Given the description of an element on the screen output the (x, y) to click on. 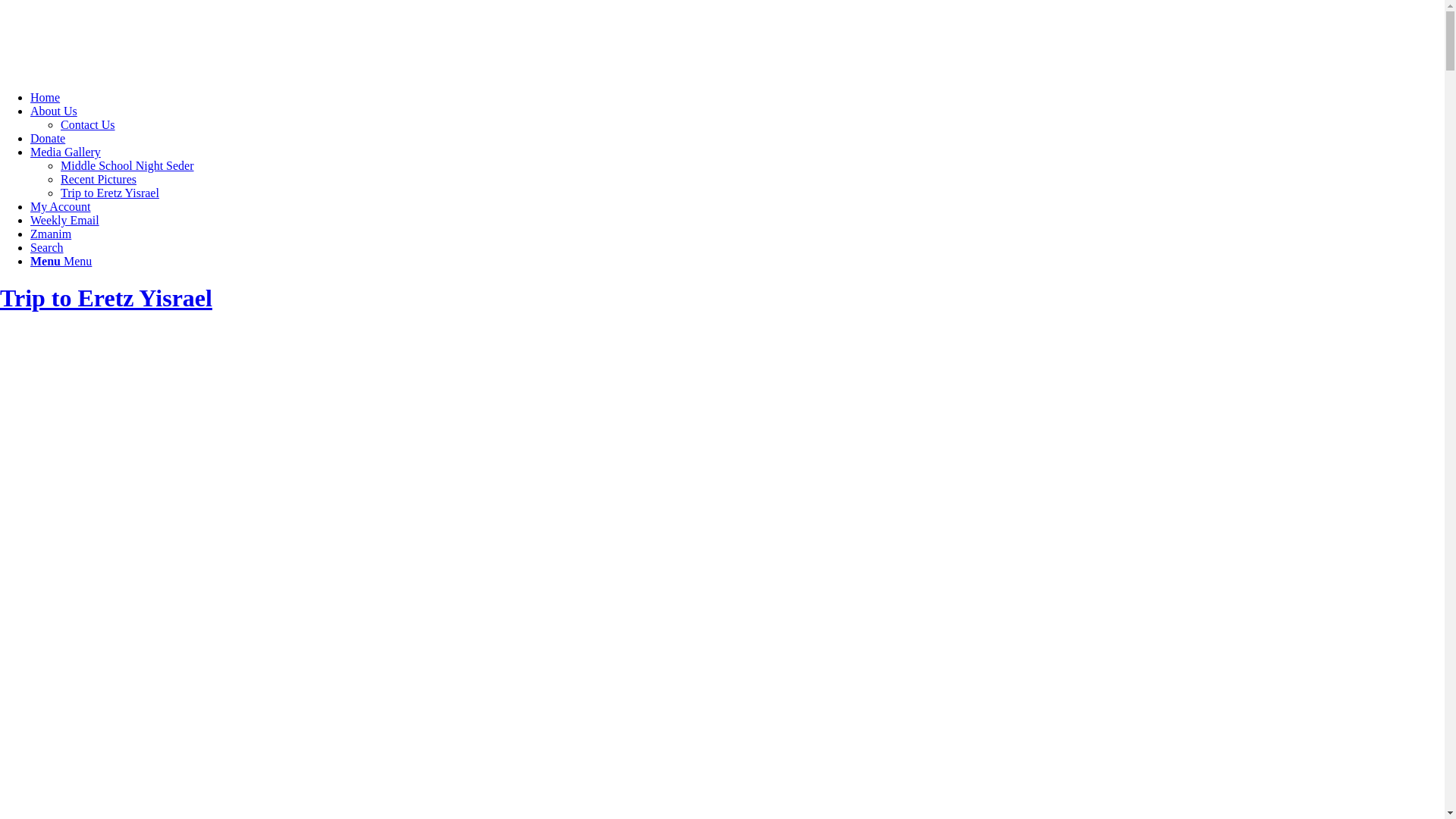
Search Element type: text (46, 247)
Weekly Email Element type: text (64, 219)
Recent Pictures Element type: text (98, 178)
About Us Element type: text (53, 110)
Home Element type: text (44, 97)
Contact Us Element type: text (87, 124)
Zmanim Element type: text (50, 233)
My Account Element type: text (60, 206)
Donate Element type: text (47, 137)
Trip to Eretz Yisrael Element type: text (109, 192)
Trip to Eretz Yisrael Element type: text (106, 297)
Media Gallery Element type: text (65, 151)
Menu Menu Element type: text (60, 260)
Middle School Night Seder Element type: text (127, 165)
